Given the description of an element on the screen output the (x, y) to click on. 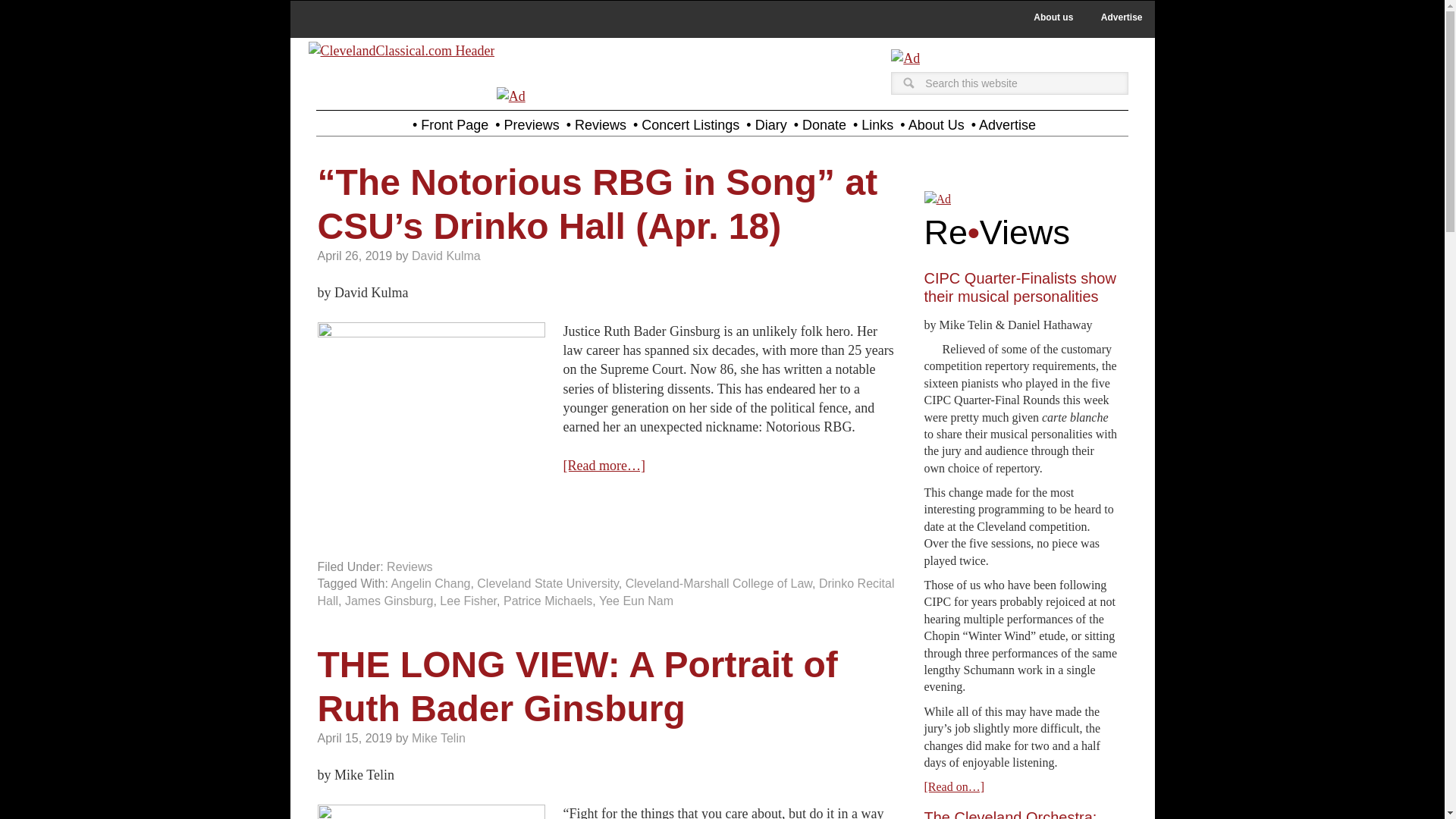
Reviews (409, 566)
David Kulma (446, 255)
About us (1053, 17)
Angelin Chang (430, 583)
Advertise (1121, 17)
Cleveland-Marshall College of Law (719, 583)
THE LONG VIEW: A Portrait of Ruth Bader Ginsburg (577, 686)
Cleveland State University (547, 583)
Patrice Michaels (547, 600)
Mike Telin (438, 738)
Drinko Recital Hall (605, 591)
Lee Fisher (467, 600)
